Given the description of an element on the screen output the (x, y) to click on. 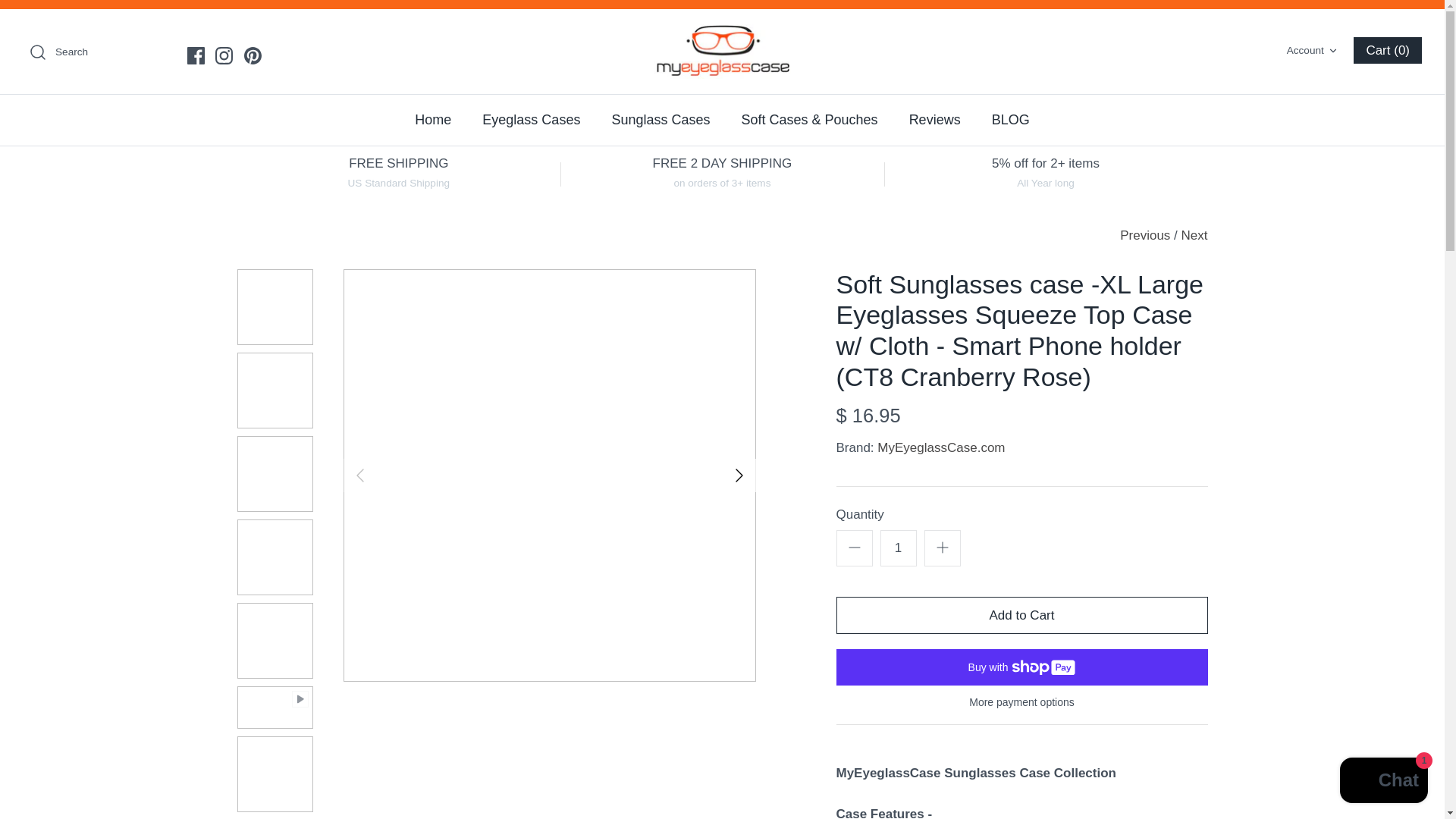
Left (359, 475)
Eyeglass Cases (531, 120)
Minus (853, 547)
Shopify online store chat (1383, 781)
Add to Cart (1021, 615)
Instagram (223, 55)
Right (738, 475)
Reviews (934, 120)
Pinterest (253, 55)
Instagram (223, 55)
Home (432, 120)
1 (897, 547)
Plus (1313, 51)
Down (941, 547)
